Given the description of an element on the screen output the (x, y) to click on. 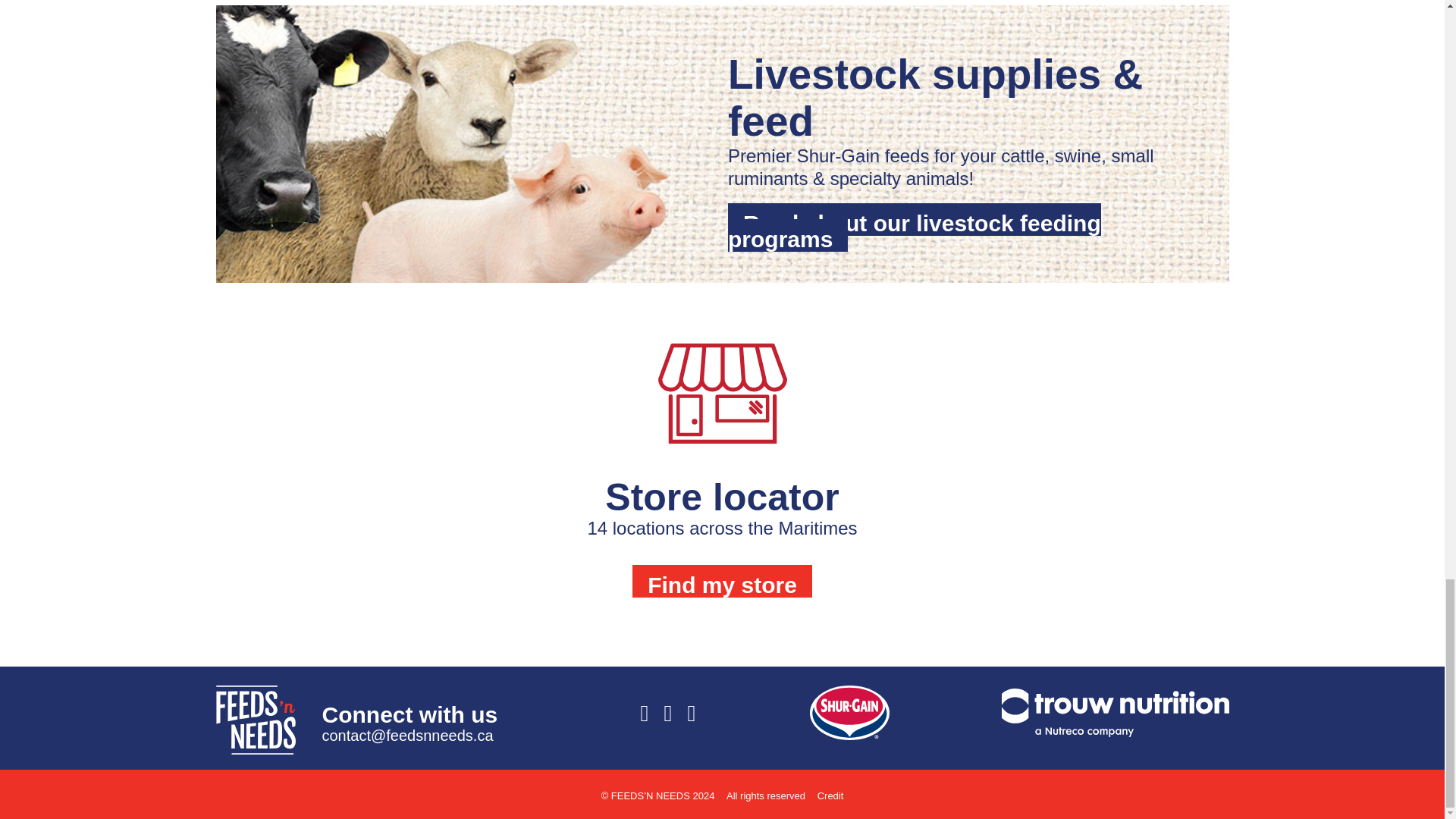
Find my store (721, 581)
Read about our livestock feeding programs (914, 227)
